Given the description of an element on the screen output the (x, y) to click on. 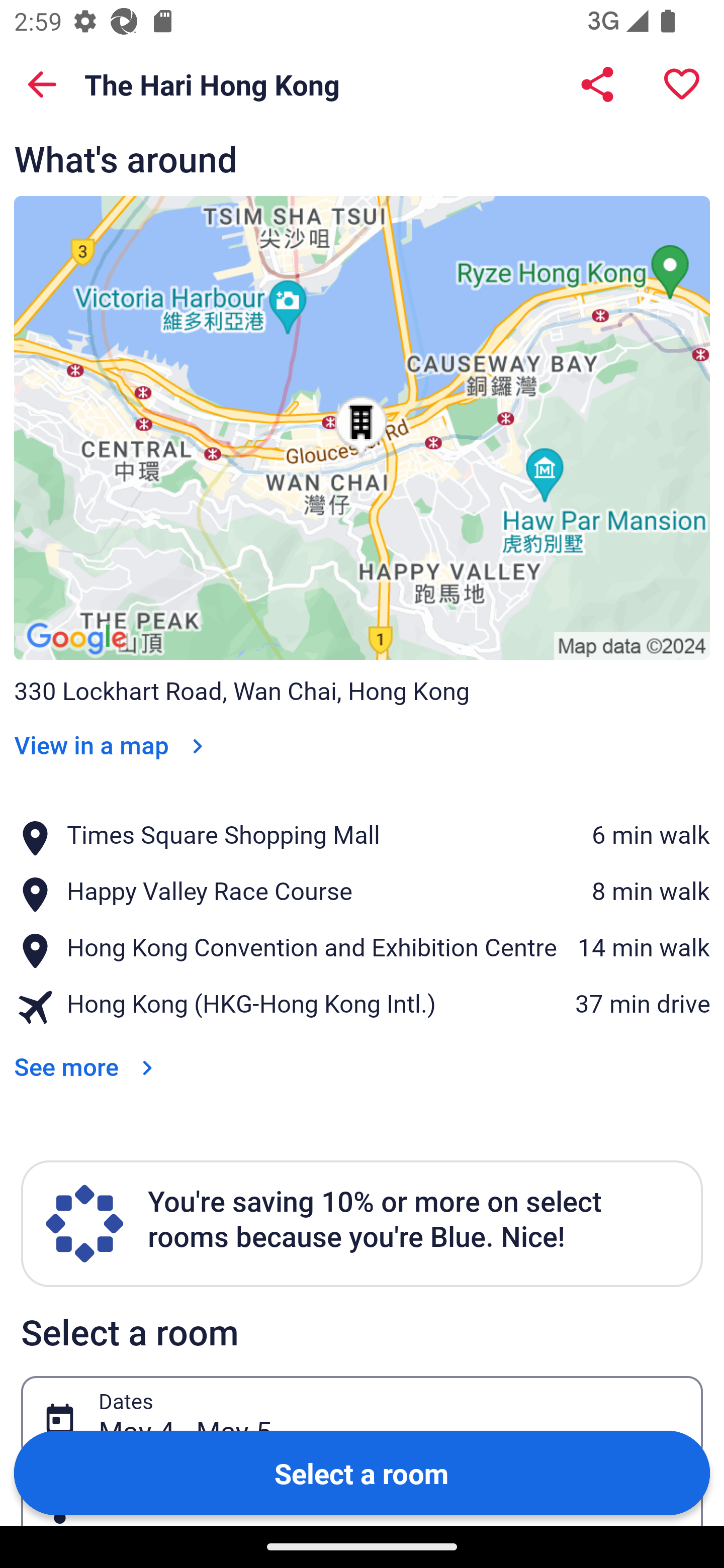
Back (42, 84)
Save property to a trip (681, 84)
See all property amenities (178, 90)
Share The Hari Hong Kong (597, 84)
See more (86, 1053)
Select a room Button Select a room (361, 1472)
